Given the description of an element on the screen output the (x, y) to click on. 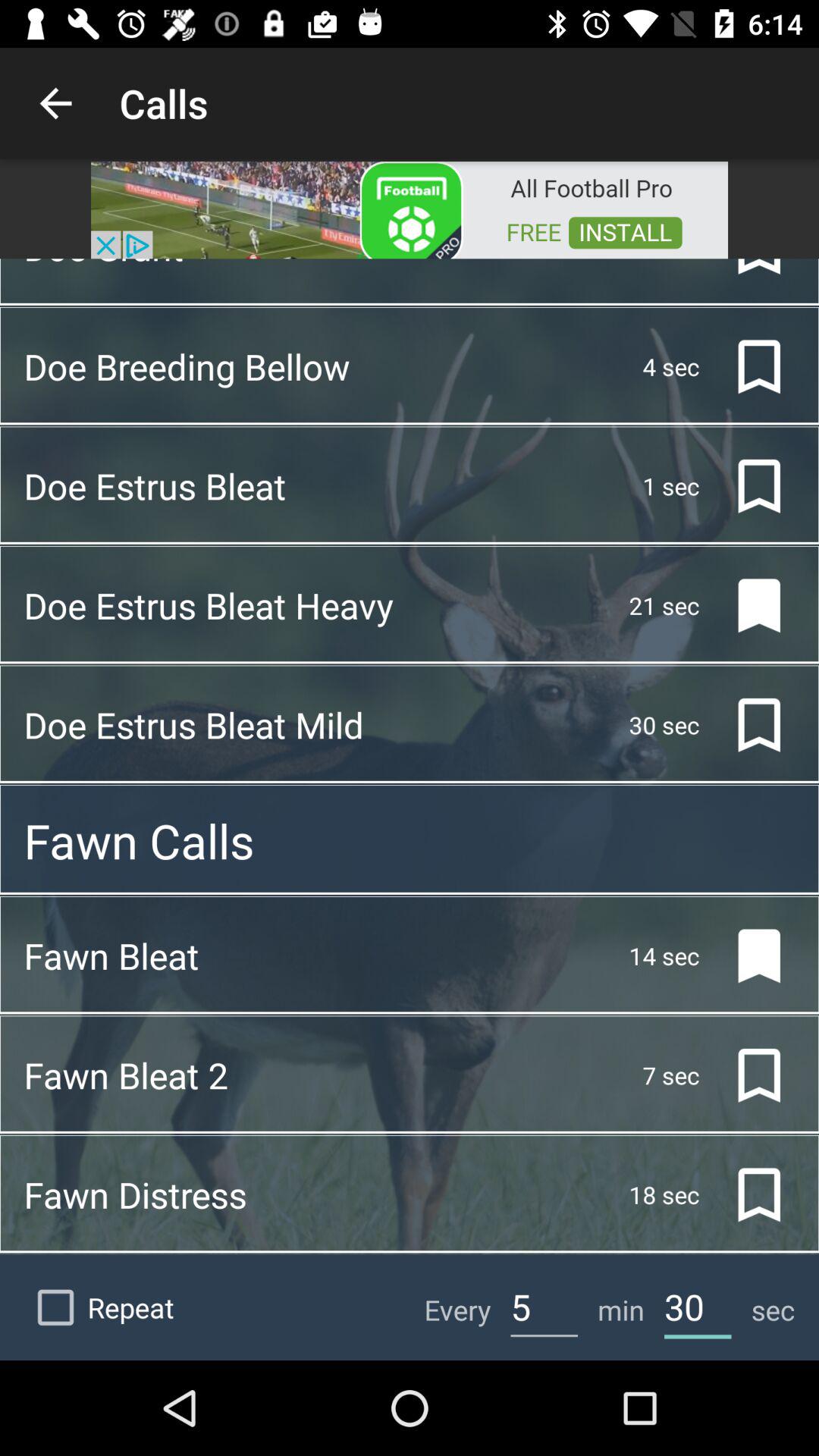
open advertisement (409, 208)
